Given the description of an element on the screen output the (x, y) to click on. 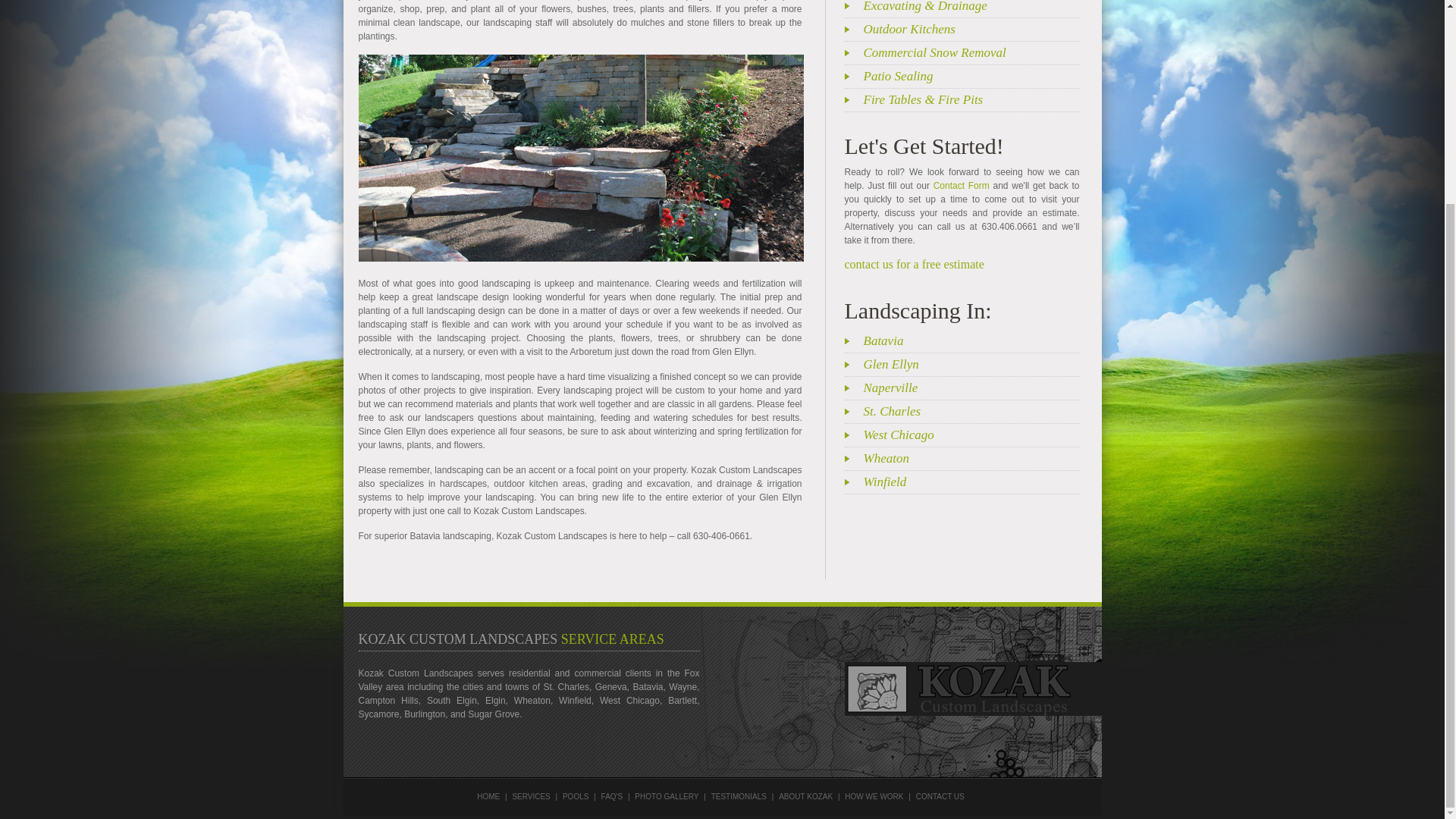
Commercial Snow Removal (970, 52)
SERVICES (531, 796)
FAQ'S (612, 796)
HOW WE WORK (873, 796)
ABOUT KOZAK (805, 796)
TESTIMONIALS (739, 796)
Patio Sealing (970, 76)
CONTACT US (939, 796)
Outdoor Kitchens (970, 29)
HOME (488, 796)
POOLS (575, 796)
PHOTO GALLERY (666, 796)
Contact Form (961, 185)
contact us for a free estimate (914, 264)
